Given the description of an element on the screen output the (x, y) to click on. 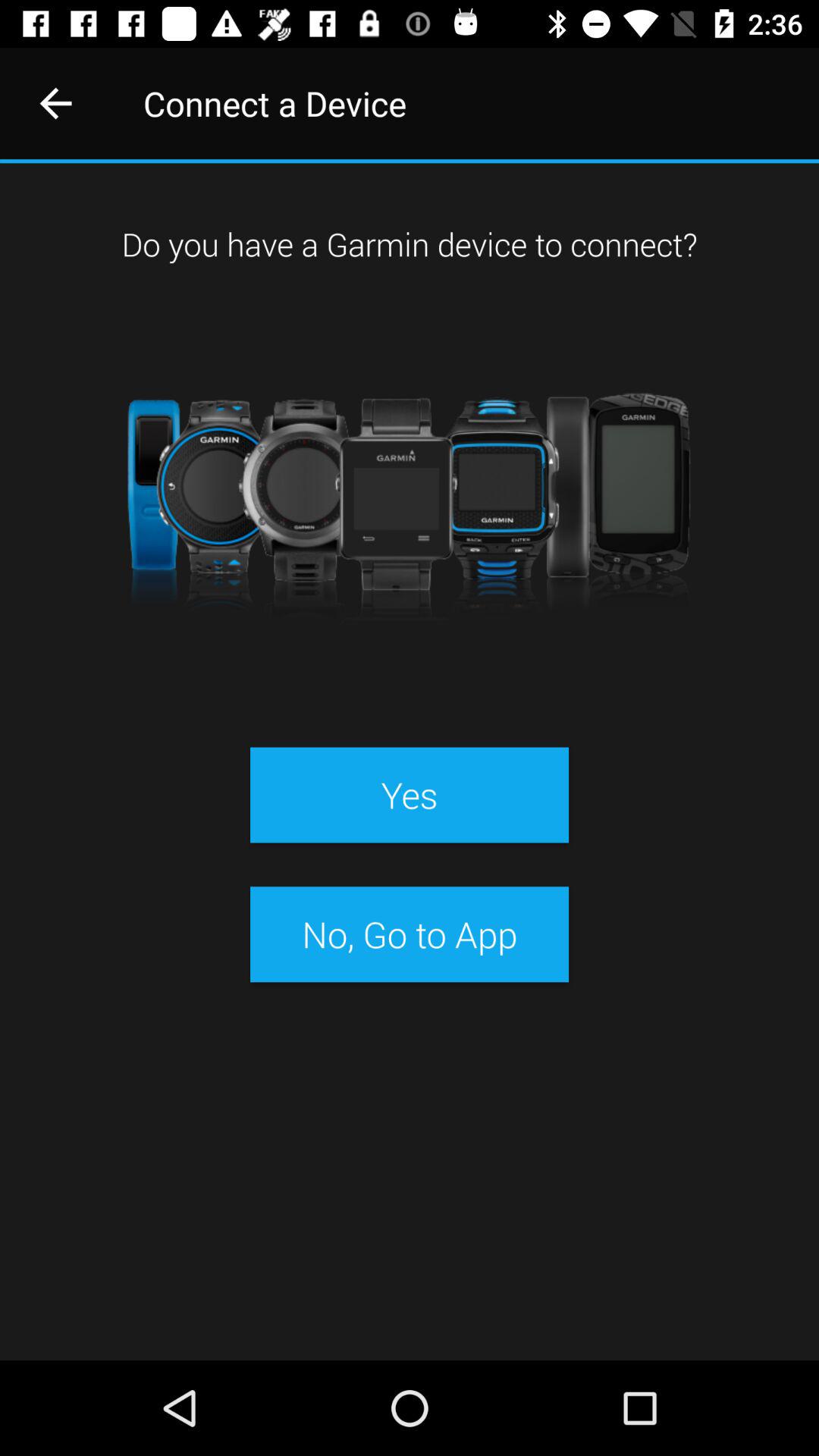
turn off item below yes (409, 934)
